Given the description of an element on the screen output the (x, y) to click on. 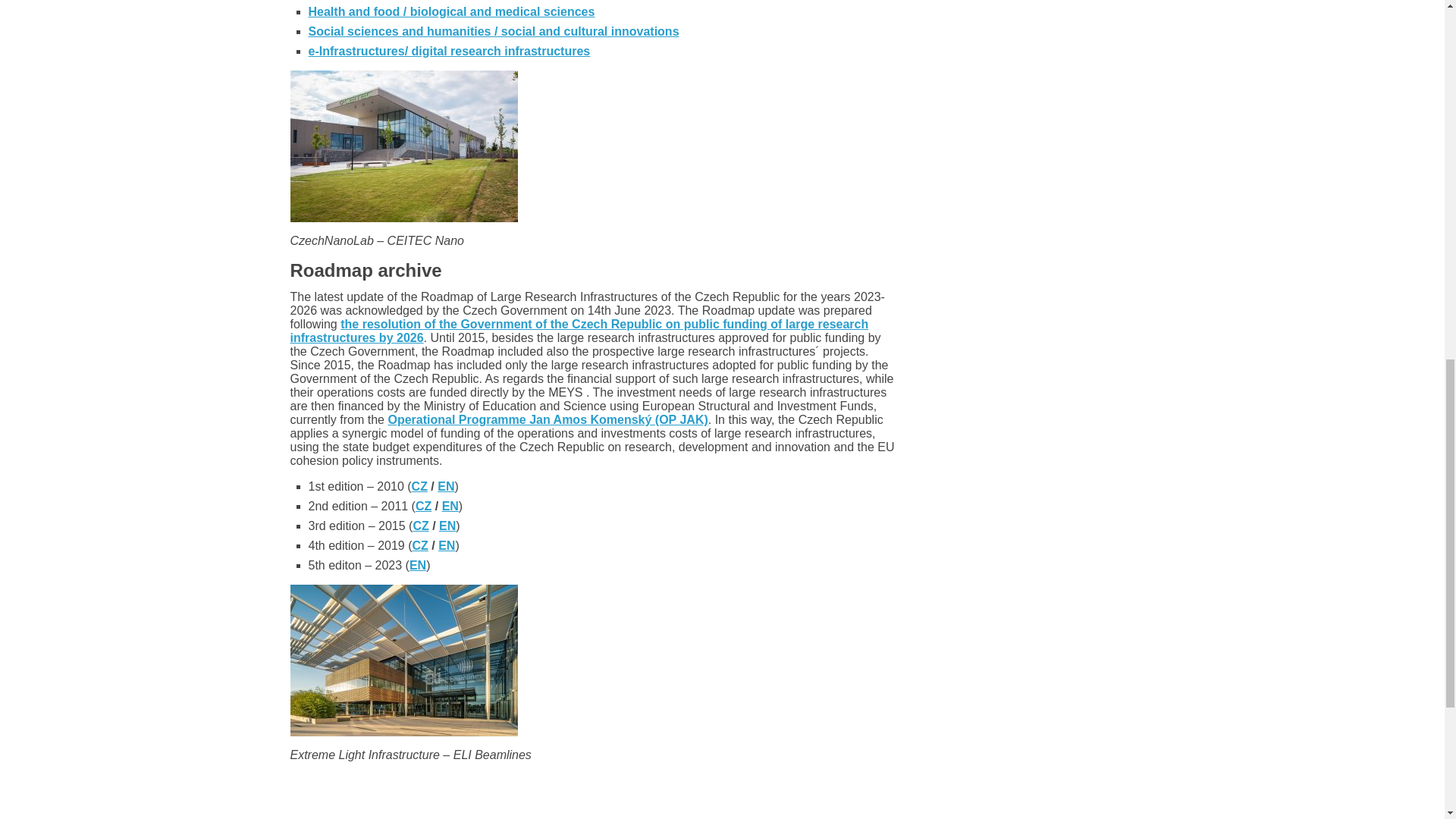
EN (450, 505)
EN (447, 525)
CZ (420, 486)
Health and fo (345, 11)
EN (446, 486)
CZ (420, 545)
CZ (422, 505)
CZ (420, 525)
